Given the description of an element on the screen output the (x, y) to click on. 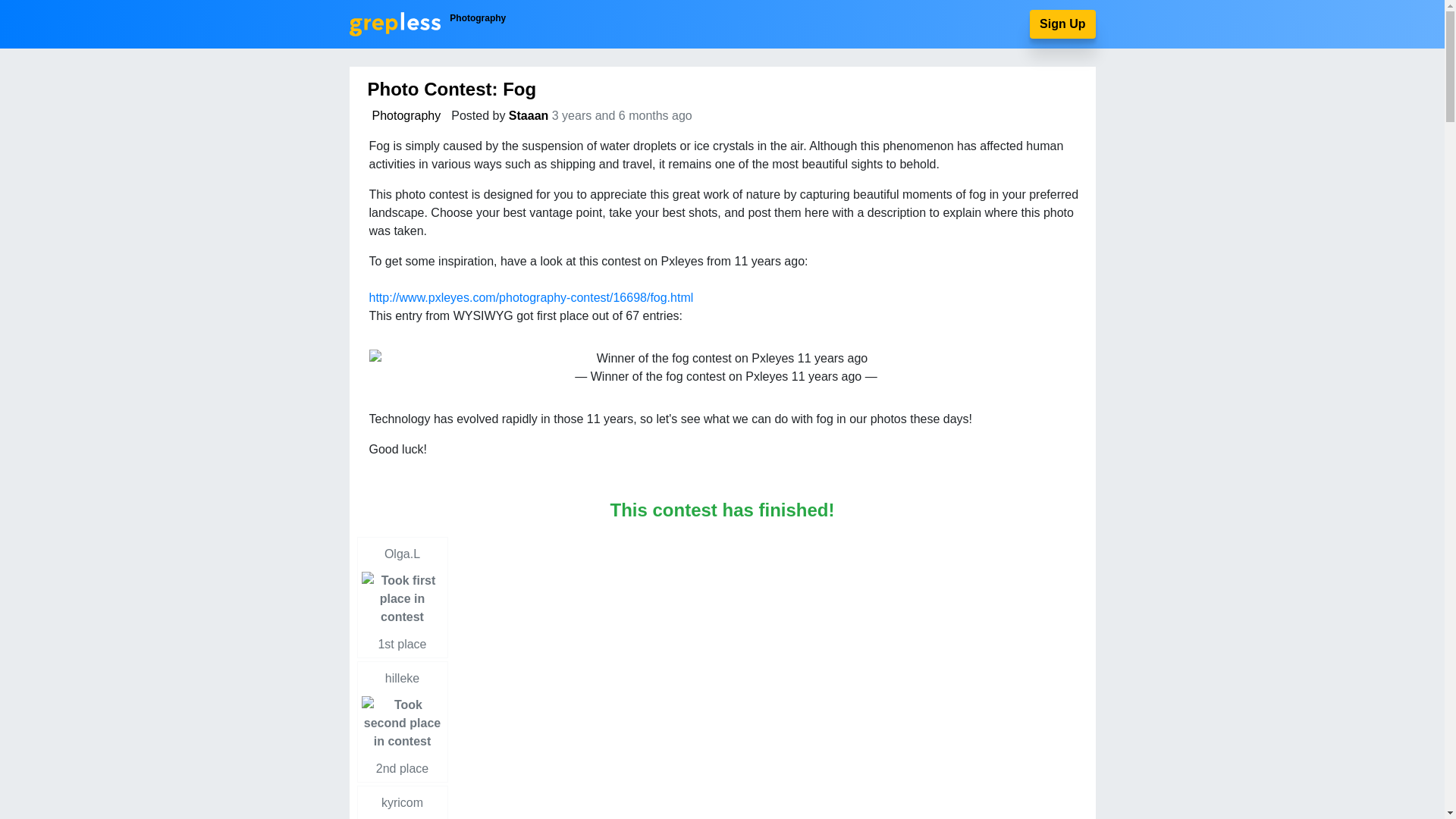
Photo Contest: Fog (450, 88)
Staaan (401, 597)
Photography (401, 802)
